Given the description of an element on the screen output the (x, y) to click on. 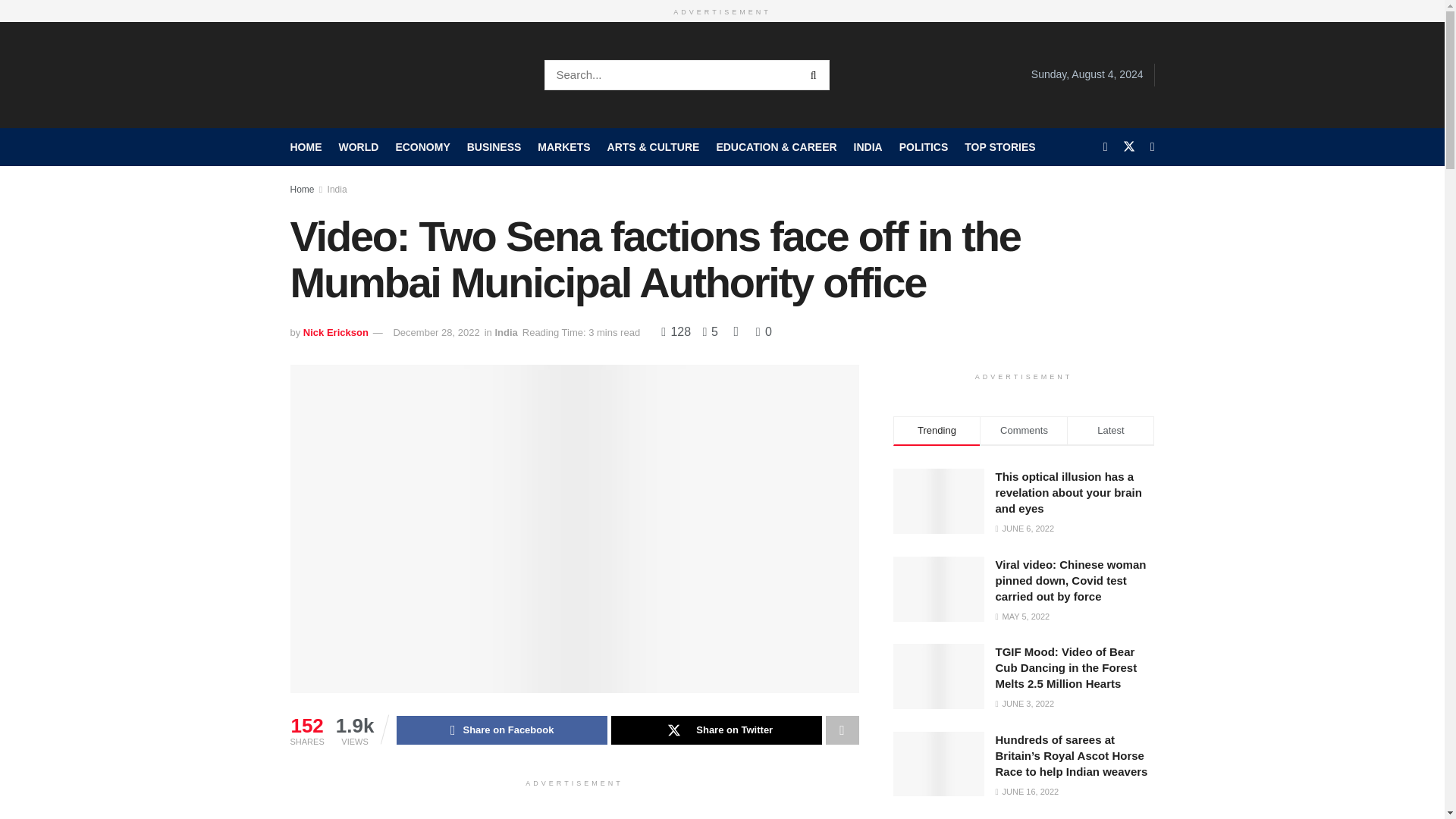
TOP STORIES (999, 146)
MARKETS (563, 146)
INDIA (867, 146)
WORLD (357, 146)
HOME (305, 146)
POLITICS (924, 146)
ECONOMY (421, 146)
BUSINESS (494, 146)
